Given the description of an element on the screen output the (x, y) to click on. 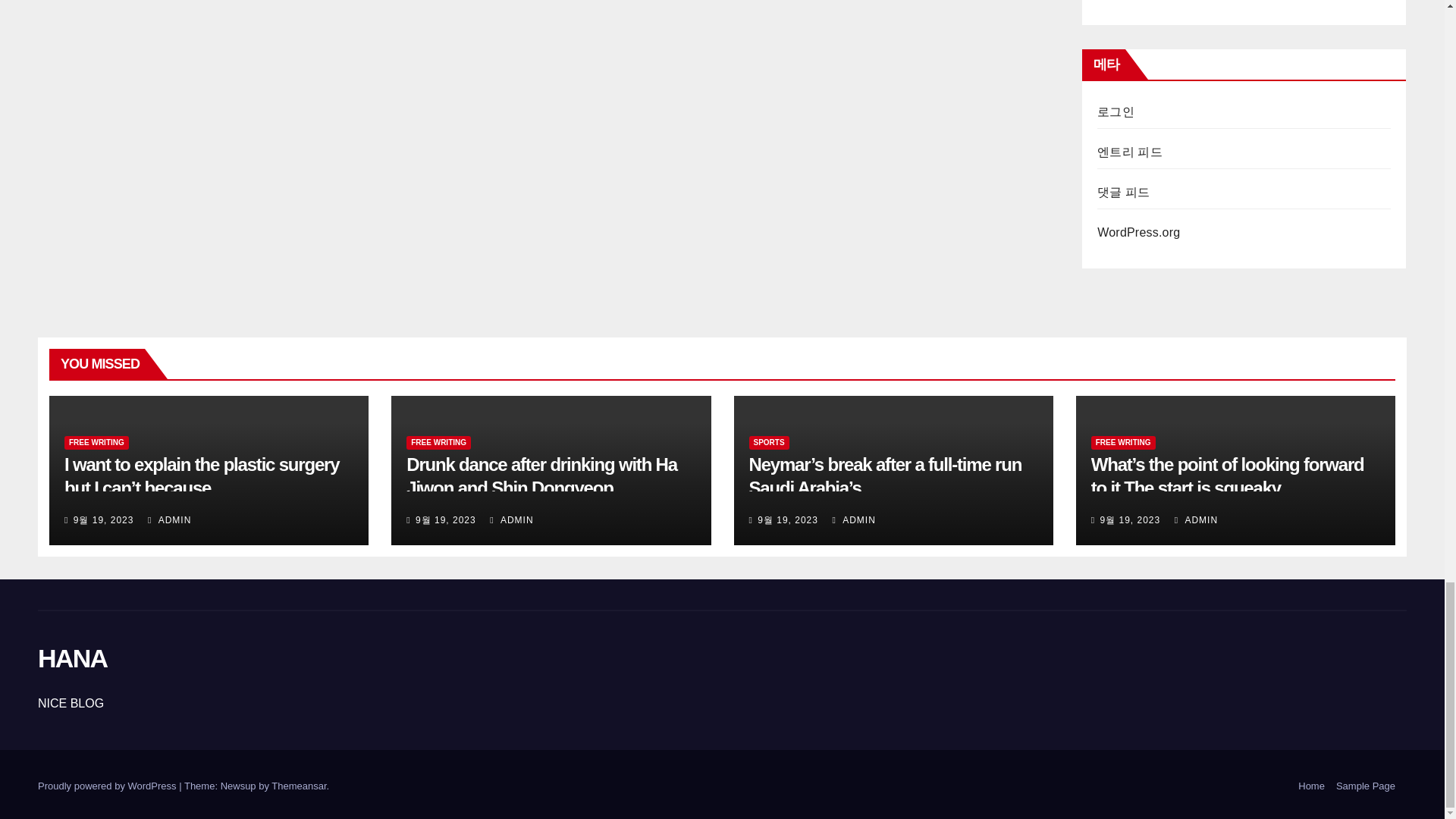
Home (1311, 785)
